Given the description of an element on the screen output the (x, y) to click on. 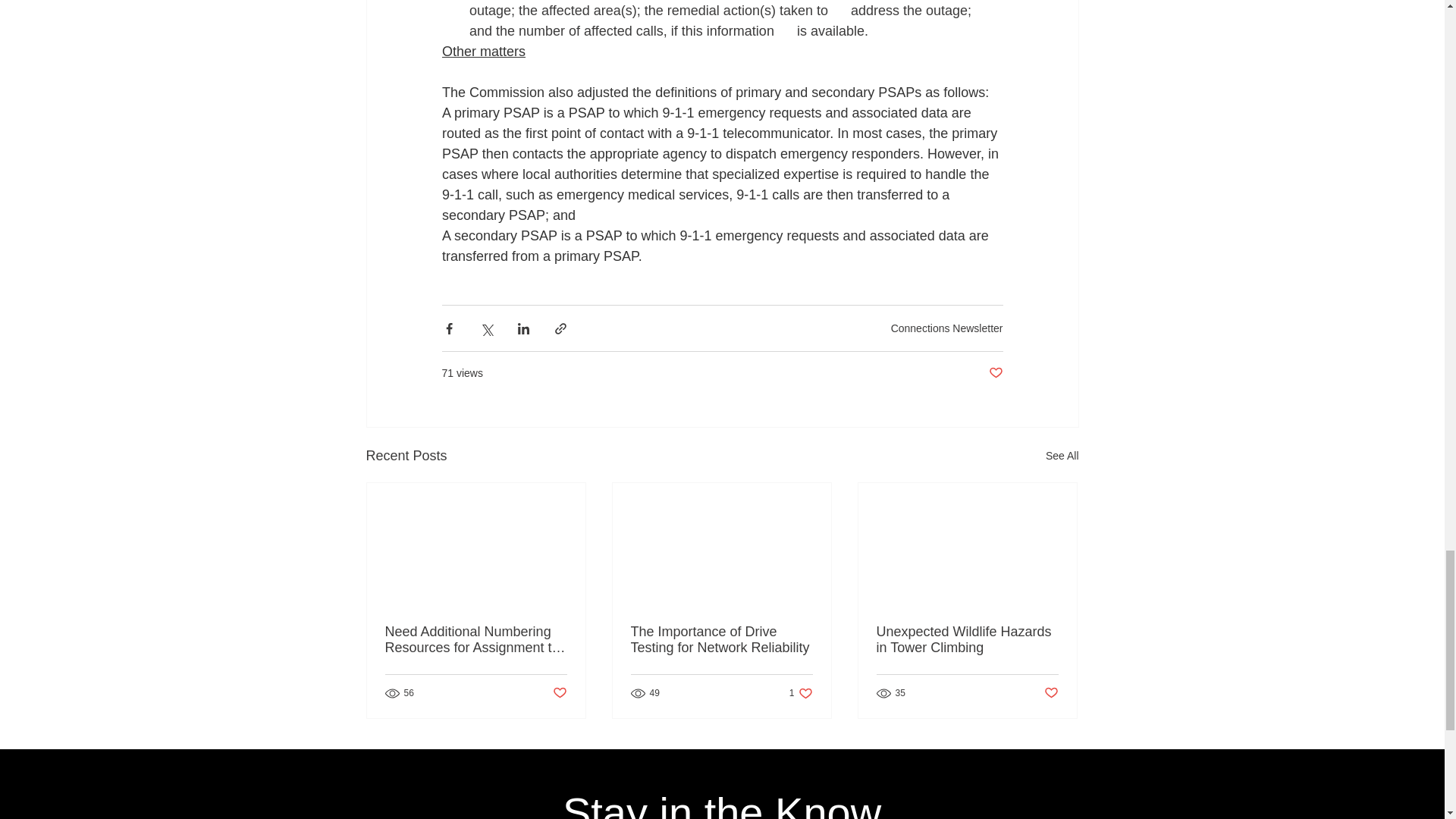
Post not marked as liked (995, 373)
Post not marked as liked (558, 693)
The Importance of Drive Testing for Network Reliability (721, 640)
Connections Newsletter (947, 327)
See All (1061, 455)
